Given the description of an element on the screen output the (x, y) to click on. 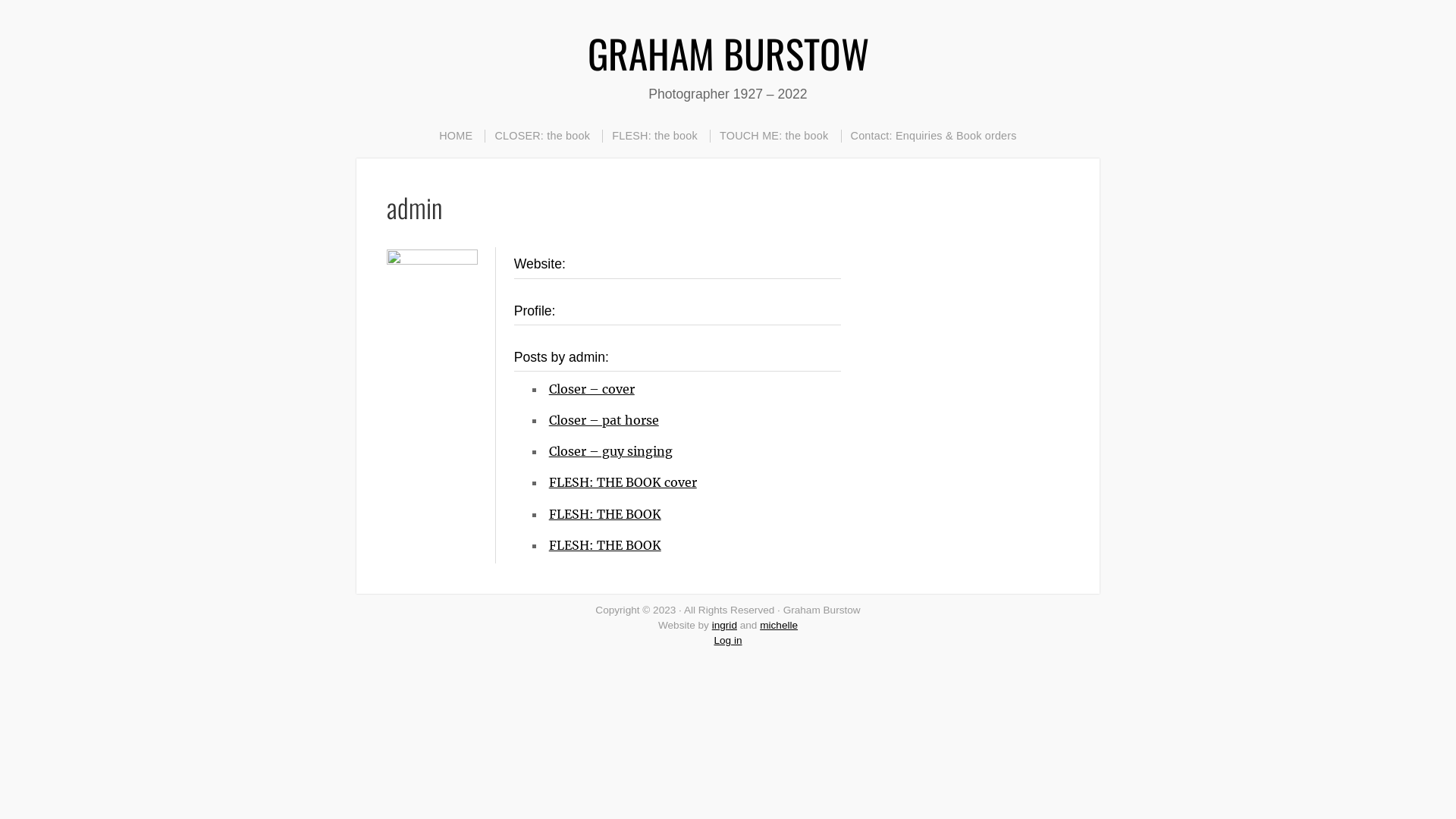
michelle Element type: text (778, 624)
FLESH: the book Element type: text (654, 135)
TOUCH ME: the book Element type: text (773, 135)
ingrid Element type: text (724, 624)
CLOSER: the book Element type: text (541, 135)
HOME Element type: text (455, 135)
GRAHAM BURSTOW Element type: text (727, 52)
Log in Element type: text (727, 640)
FLESH: THE BOOK cover Element type: text (622, 481)
Contact: Enquiries & Book orders Element type: text (933, 135)
FLESH: THE BOOK Element type: text (605, 513)
FLESH: THE BOOK Element type: text (605, 544)
